Given the description of an element on the screen output the (x, y) to click on. 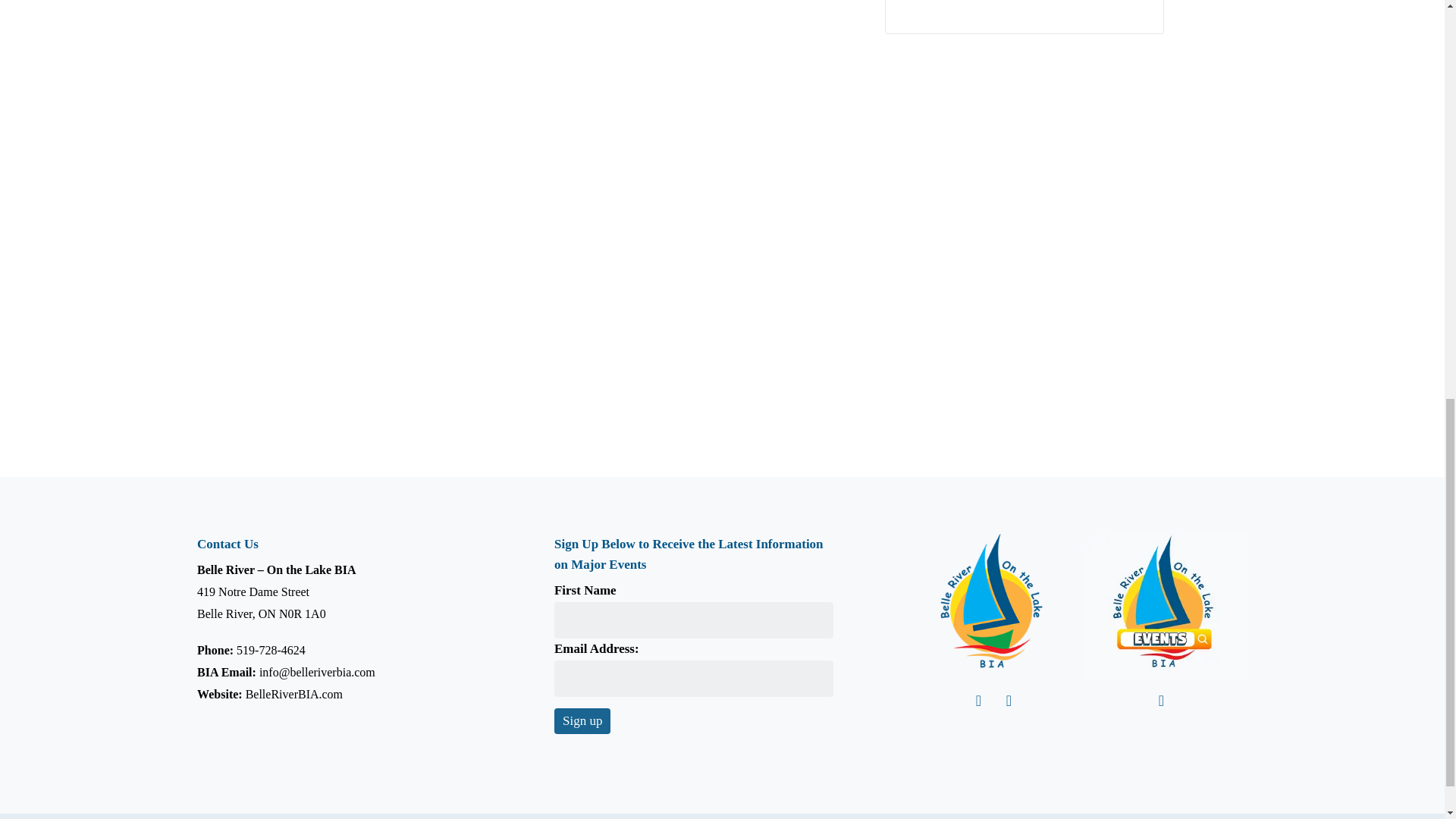
Sign up (582, 720)
